Given the description of an element on the screen output the (x, y) to click on. 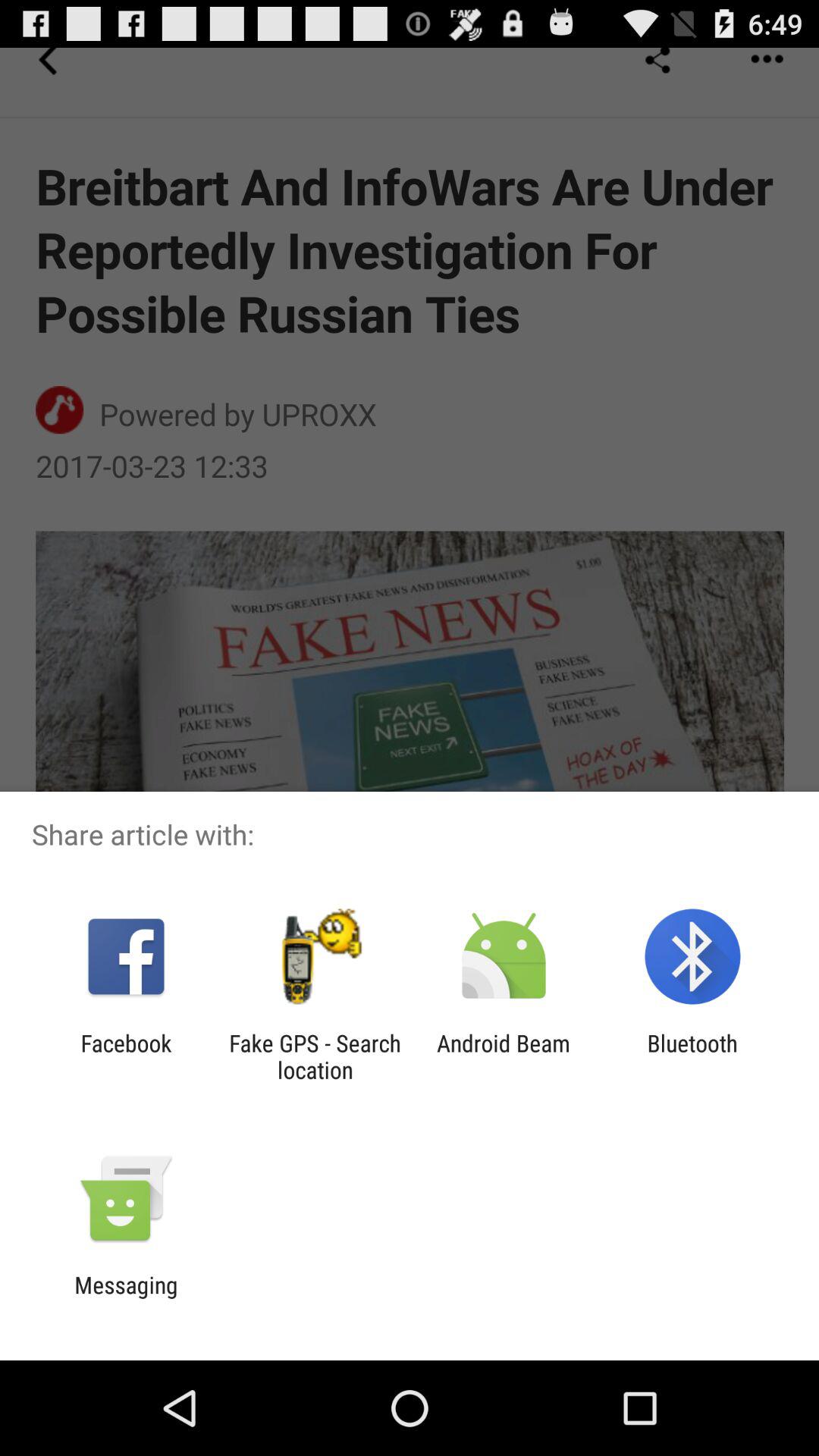
scroll to the fake gps search item (314, 1056)
